Given the description of an element on the screen output the (x, y) to click on. 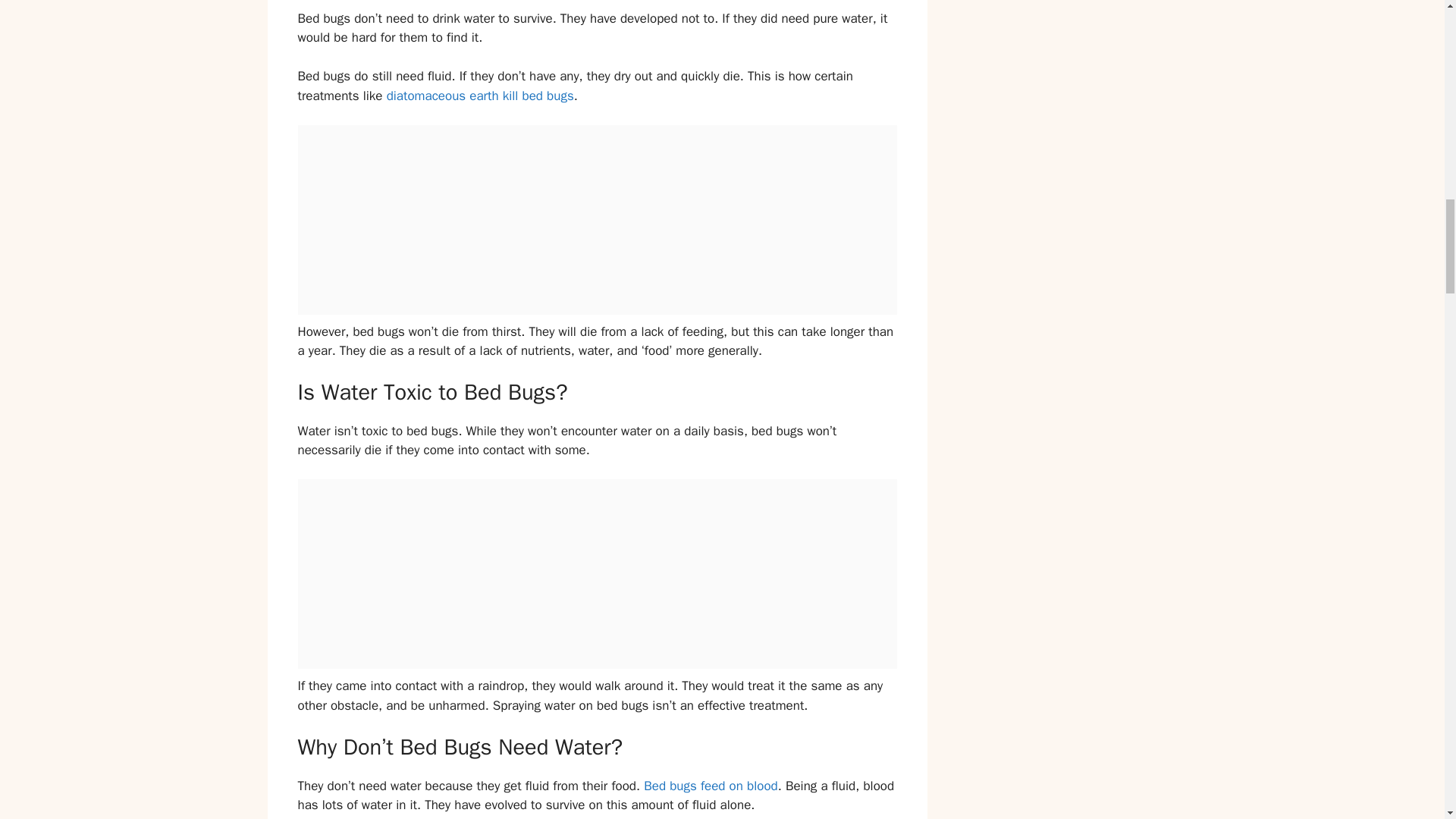
diatomaceous earth kill bed bugs (480, 95)
Bed bugs feed on blood (710, 785)
